Given the description of an element on the screen output the (x, y) to click on. 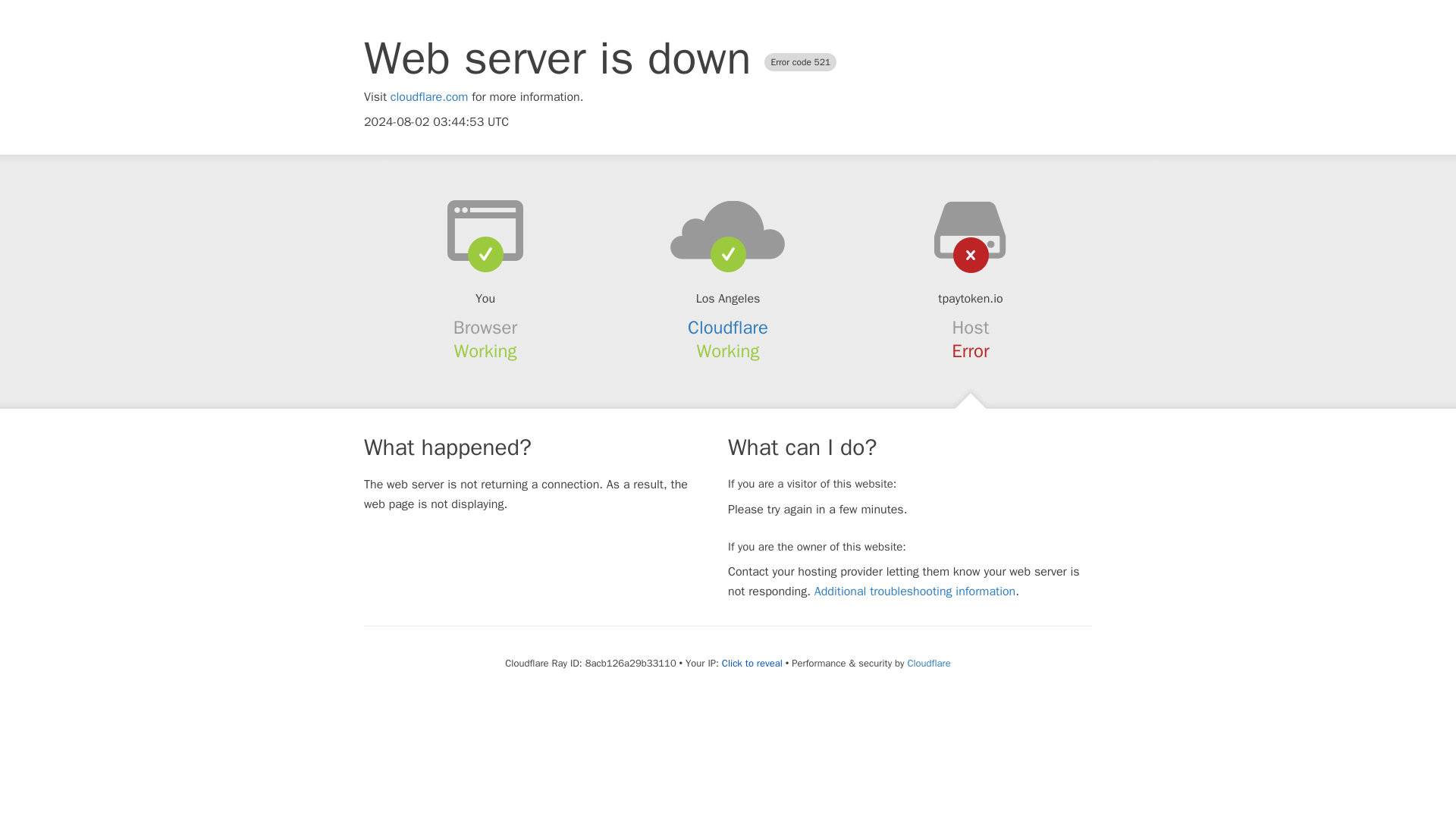
Cloudflare (727, 327)
Cloudflare (928, 662)
Additional troubleshooting information (913, 590)
cloudflare.com (429, 96)
Click to reveal (752, 663)
